Given the description of an element on the screen output the (x, y) to click on. 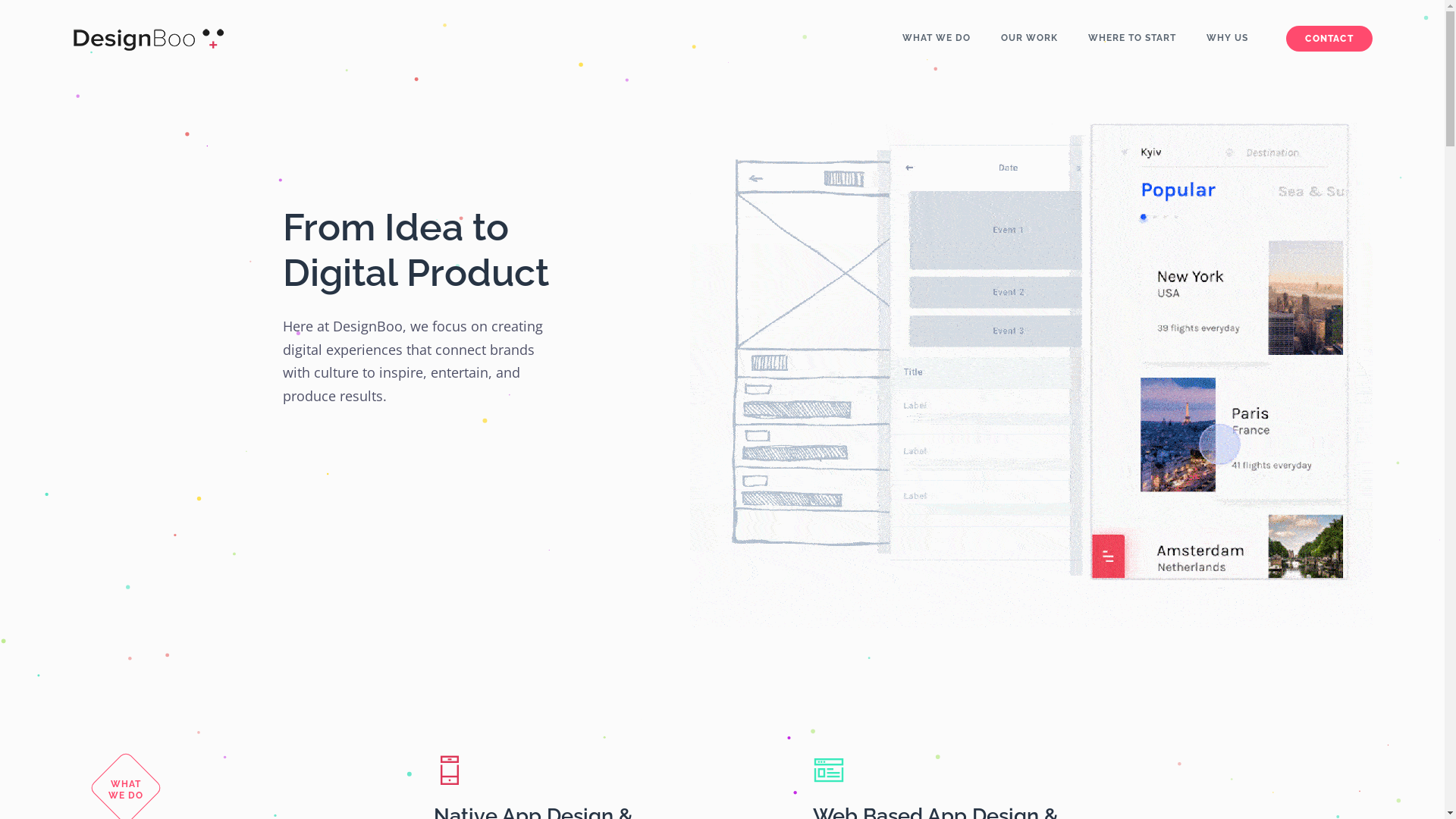
CONTACT Element type: text (1328, 38)
WHAT WE DO Element type: text (936, 37)
hello@designboo.com.au Element type: text (801, 674)
WHERE TO START Element type: text (1132, 37)
Privacy Policy Element type: text (319, 687)
OUR WORK Element type: text (1029, 37)
WHY US Element type: text (1227, 37)
